Given the description of an element on the screen output the (x, y) to click on. 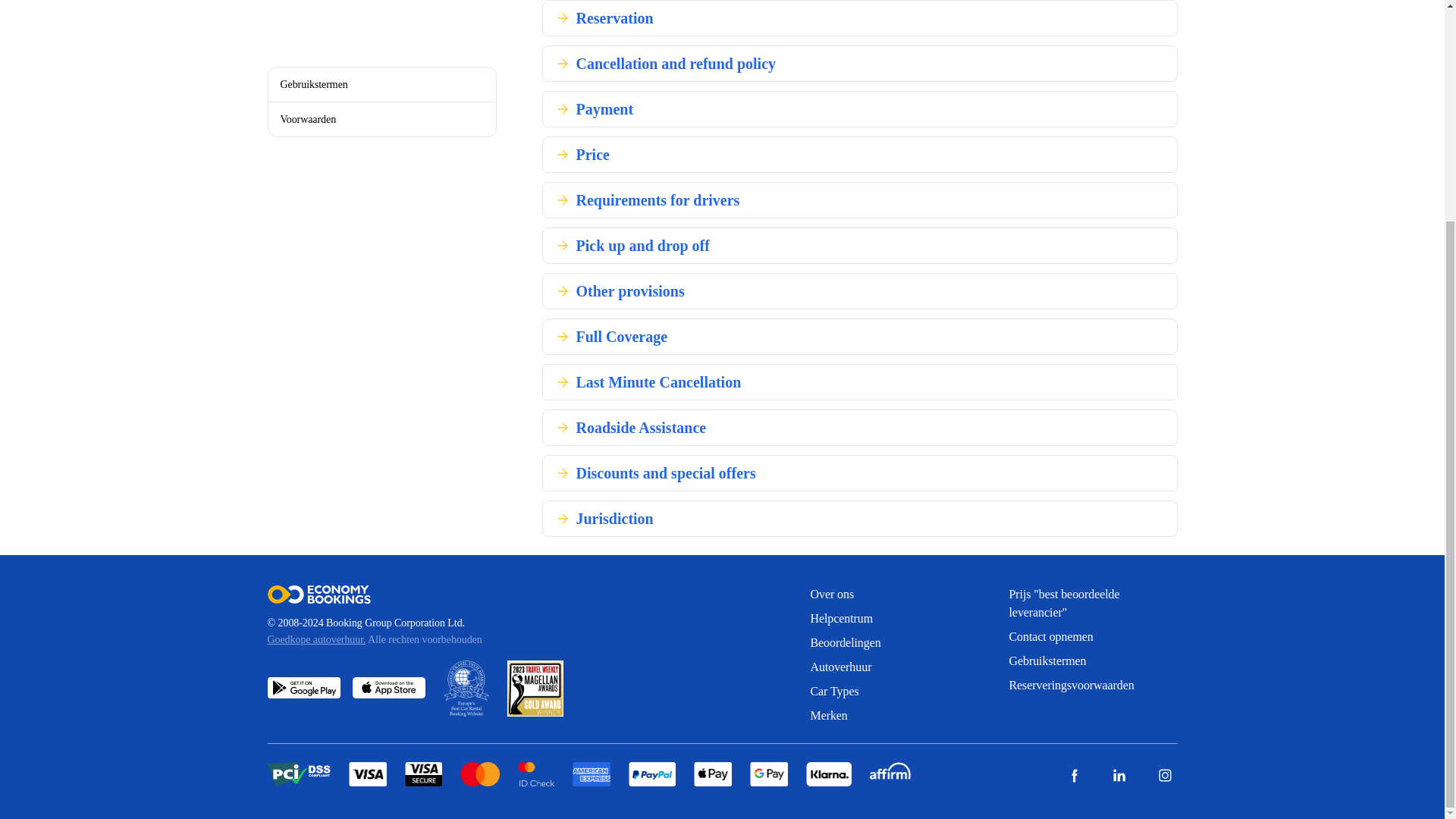
Contact opnemen (1092, 637)
Gebruikstermen (1092, 660)
Merken (893, 715)
Helpcentrum (893, 618)
Beoordelingen (893, 642)
Autoverhuur (893, 667)
Reserveringsvoorwaarden (1092, 685)
Goedkope autoverhuur. (315, 639)
Over ons (893, 594)
Prijs "best beoordeelde leverancier" (1092, 603)
Car Types (893, 691)
